Given the description of an element on the screen output the (x, y) to click on. 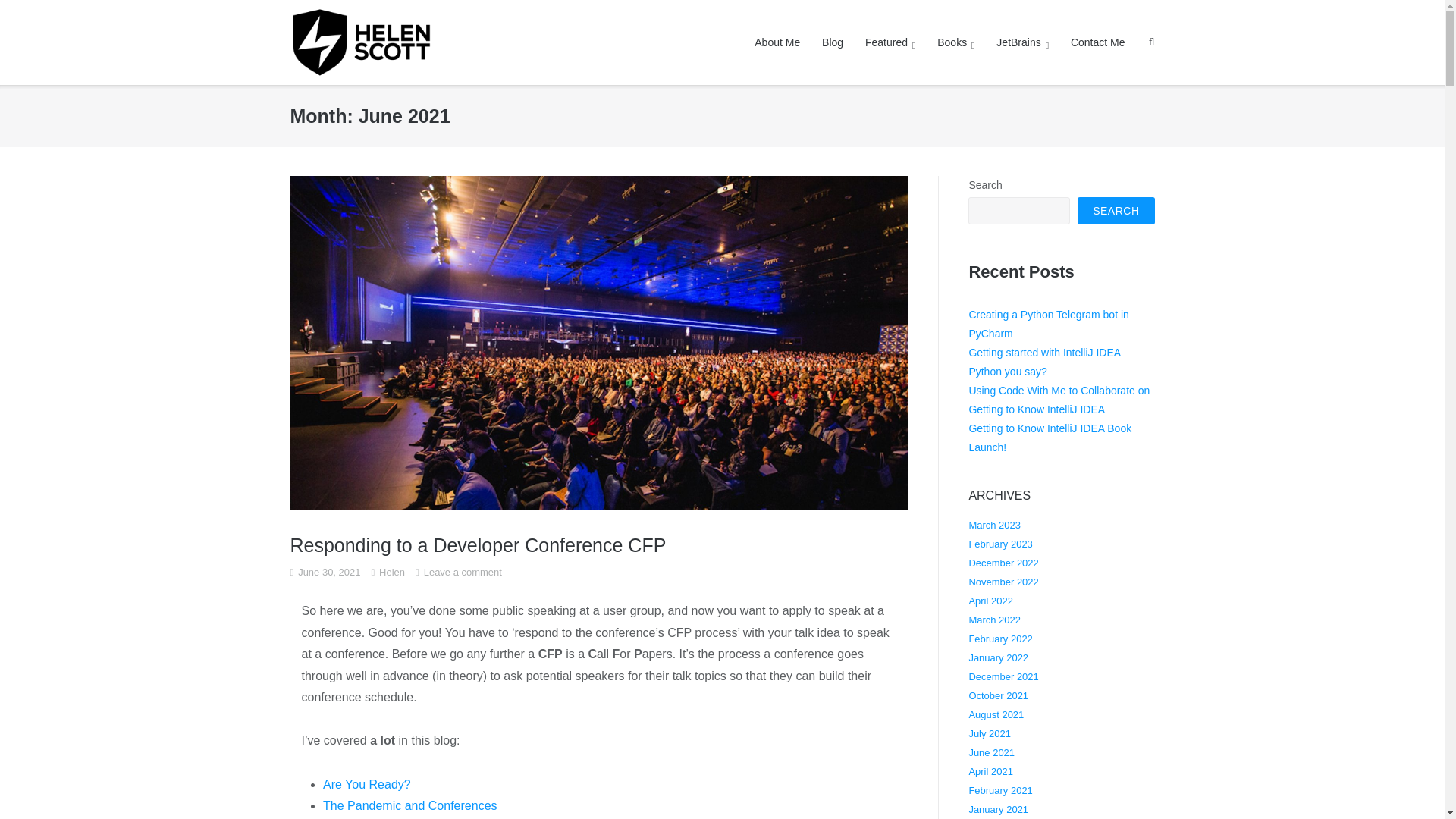
Leave a comment (462, 571)
The Pandemic and Conferences (409, 805)
Are You Ready? (366, 784)
Responding to a Developer Conference CFP (477, 545)
Helen (391, 571)
June 30, 2021 (328, 571)
